Given the description of an element on the screen output the (x, y) to click on. 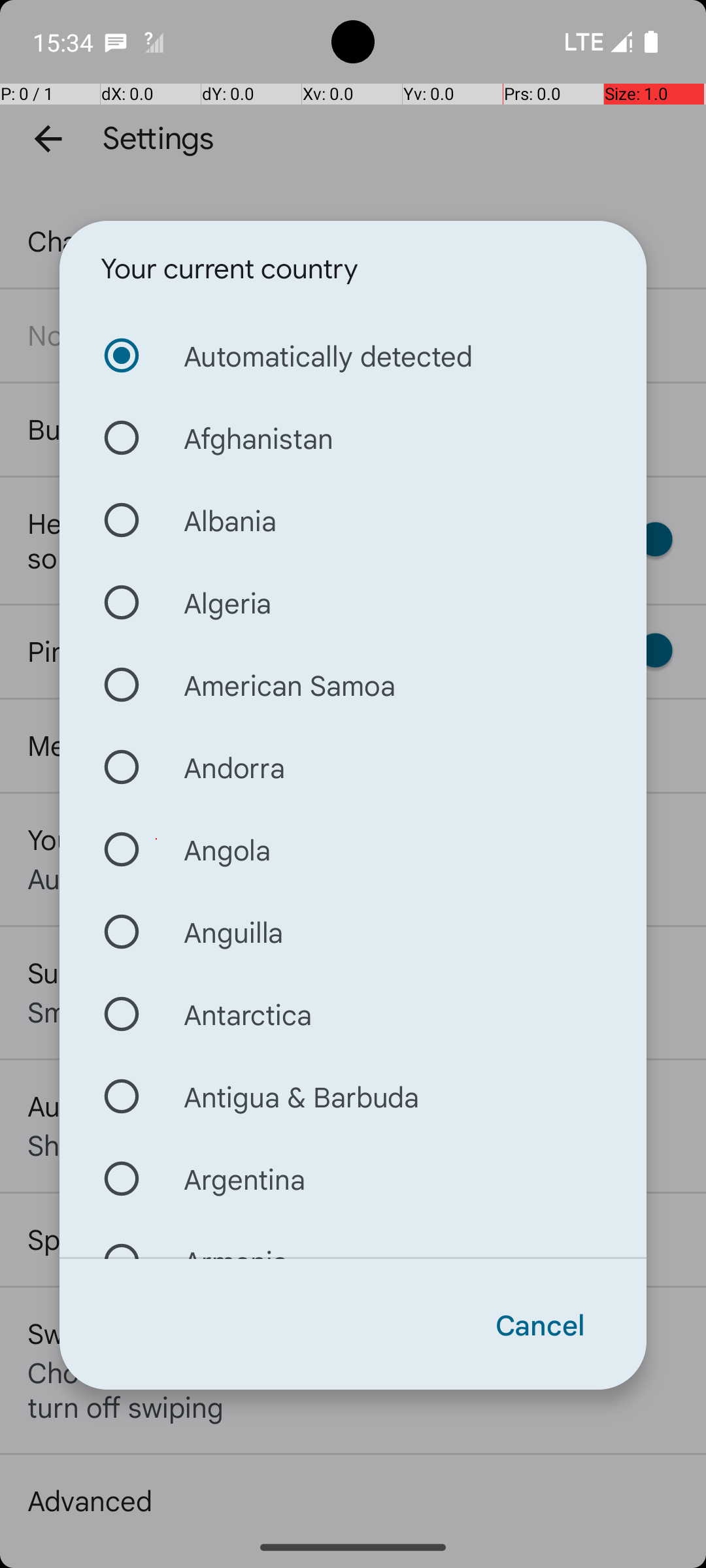
Your current country Element type: android.widget.TextView (229, 268)
Automatically detected Element type: android.widget.CheckedTextView (352, 355)
Afghanistan Element type: android.widget.CheckedTextView (352, 437)
Albania Element type: android.widget.CheckedTextView (352, 519)
Algeria Element type: android.widget.CheckedTextView (352, 602)
American Samoa Element type: android.widget.CheckedTextView (352, 684)
Andorra Element type: android.widget.CheckedTextView (352, 766)
Angola Element type: android.widget.CheckedTextView (352, 849)
Anguilla Element type: android.widget.CheckedTextView (352, 931)
Antarctica Element type: android.widget.CheckedTextView (352, 1013)
Antigua & Barbuda Element type: android.widget.CheckedTextView (352, 1096)
Argentina Element type: android.widget.CheckedTextView (352, 1178)
Armenia Element type: android.widget.CheckedTextView (352, 1238)
